Given the description of an element on the screen output the (x, y) to click on. 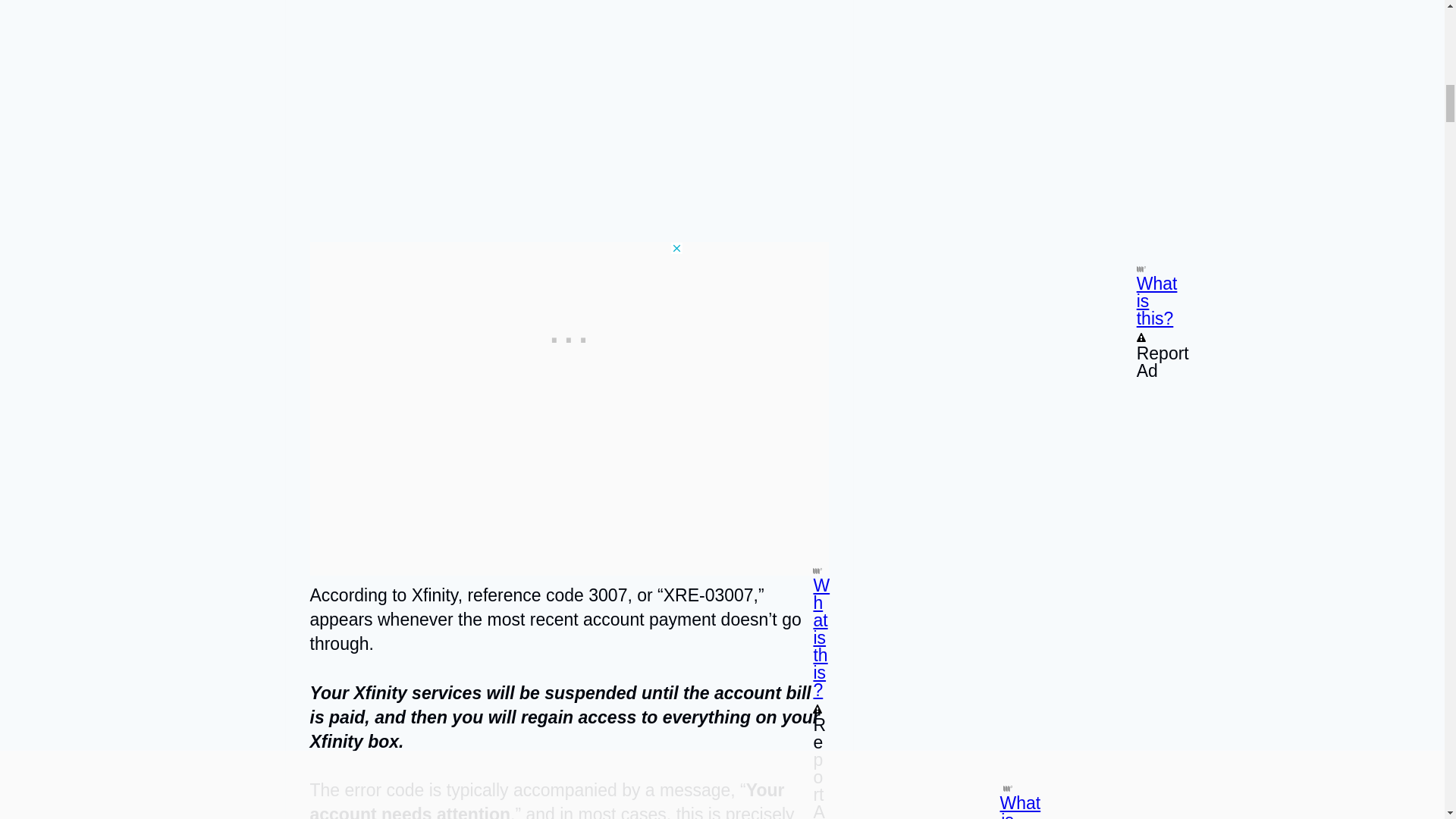
3rd party ad content (568, 336)
Xfinity Reference Code 3007 - Quick Fix Guide 2 (568, 108)
